Given the description of an element on the screen output the (x, y) to click on. 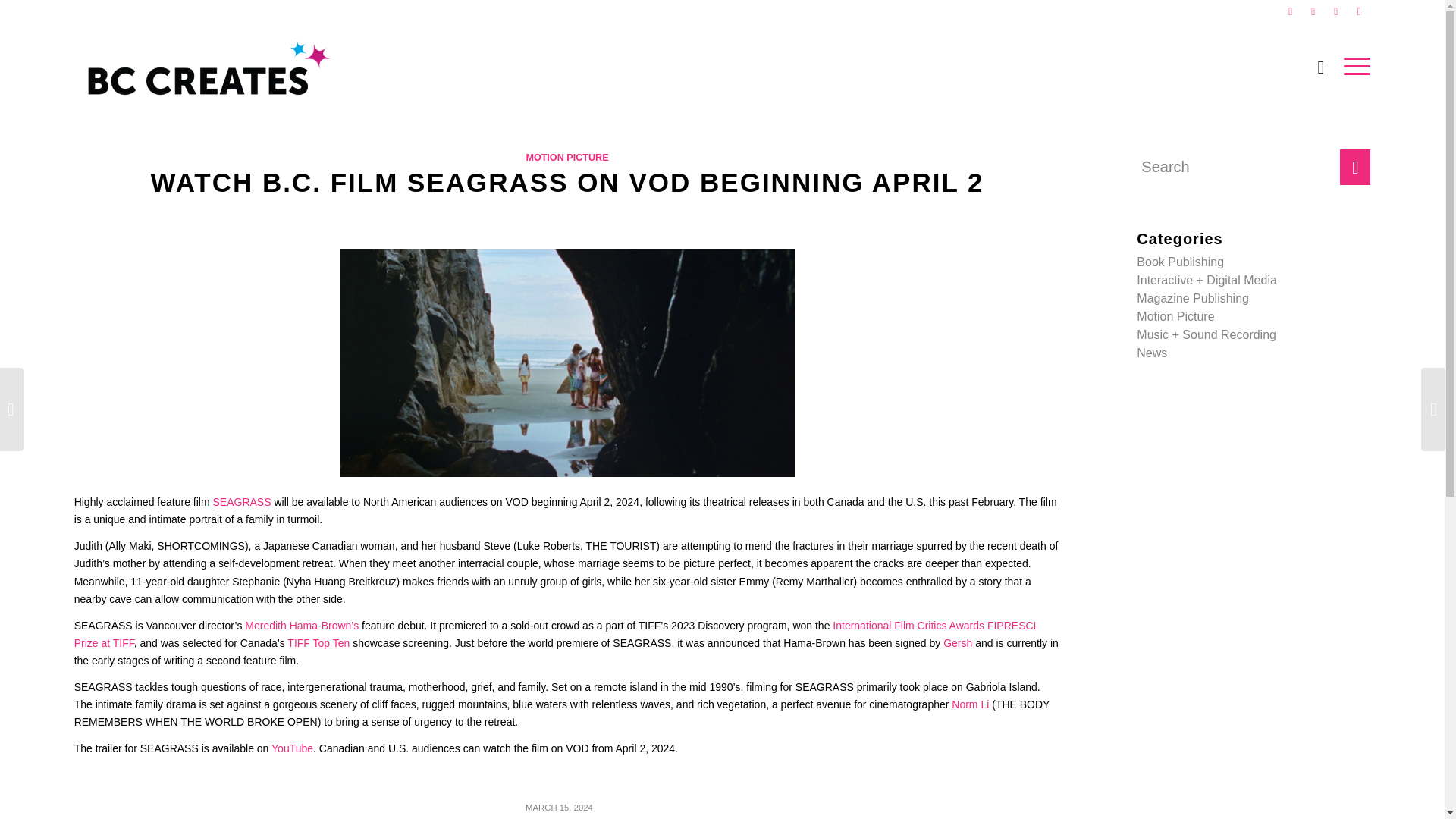
Motion Picture (1175, 316)
TIFF Top Ten (317, 643)
Magazine Publishing (1193, 297)
Instagram (1335, 11)
Facebook (1290, 11)
Norm Li (970, 704)
YouTube (291, 748)
WATCH B.C. FILM SEAGRASS ON VOD BEGINNING APRIL 2 (567, 182)
LinkedIn (1359, 11)
MOTION PICTURE (566, 157)
Gersh (957, 643)
SEAGRASS (241, 501)
News (1152, 352)
Twitter (1312, 11)
